Given the description of an element on the screen output the (x, y) to click on. 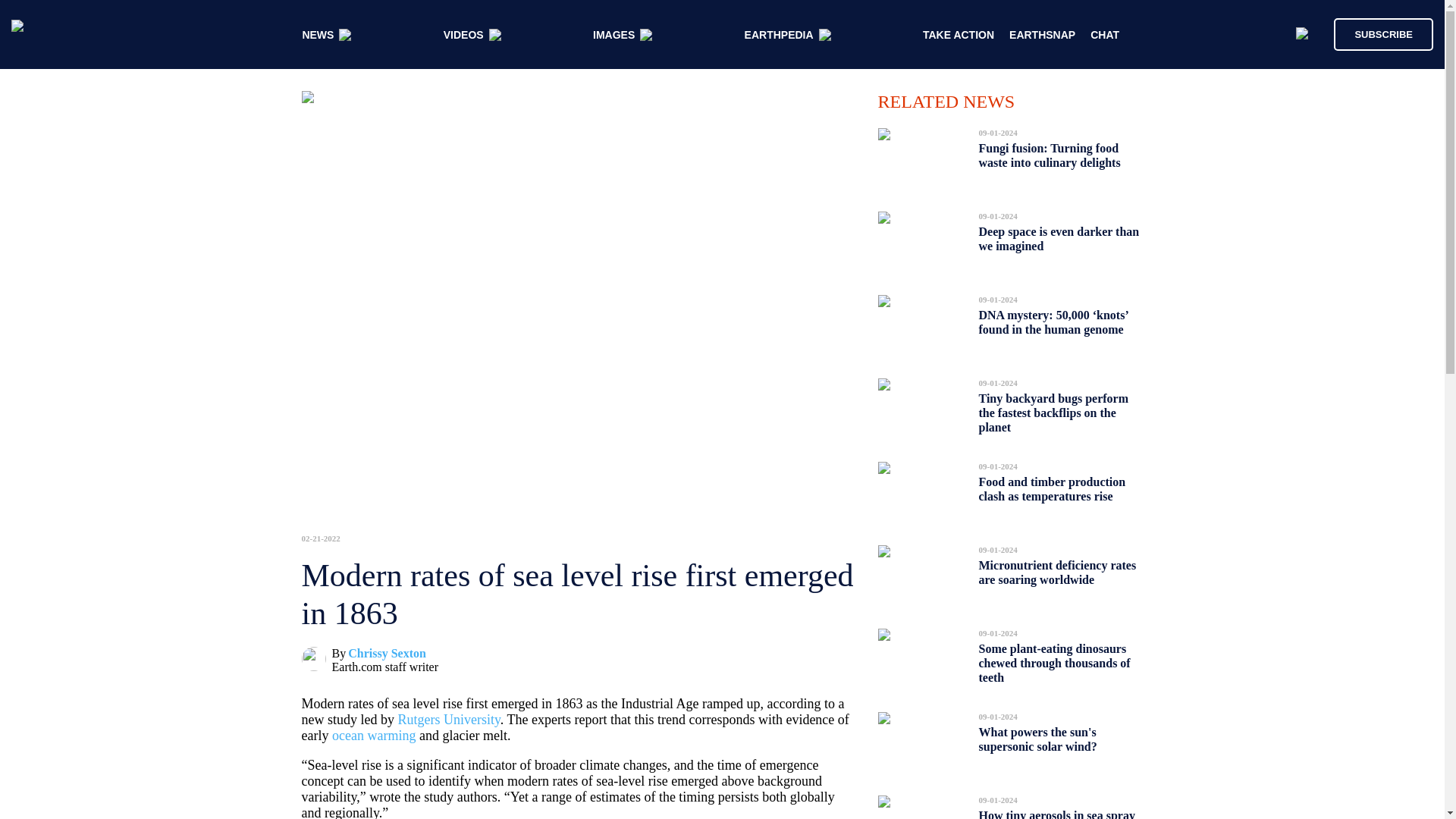
TAKE ACTION (958, 34)
What powers the sun's supersonic solar wind? (1037, 739)
SUBSCRIBE (1375, 33)
Micronutrient deficiency rates are soaring worldwide (1056, 572)
CHAT (1104, 34)
Chrissy Sexton (386, 653)
Fungi fusion: Turning food waste into culinary delights (1048, 155)
How tiny aerosols in sea spray influence Earth's climate (1056, 810)
Deep space is even darker than we imagined (1058, 238)
